Given the description of an element on the screen output the (x, y) to click on. 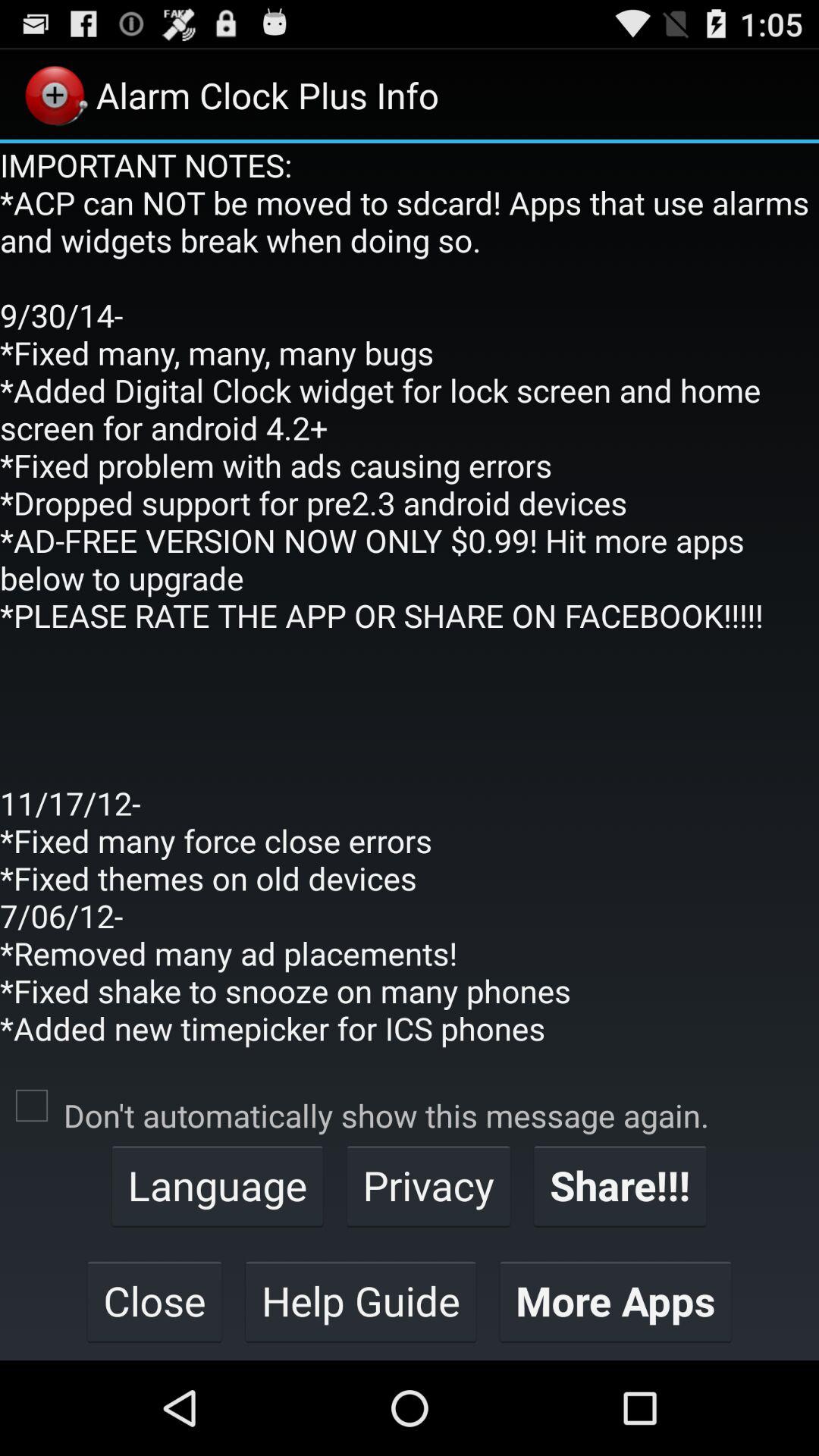
turn off the item to the left of don t automatically item (31, 1105)
